Given the description of an element on the screen output the (x, y) to click on. 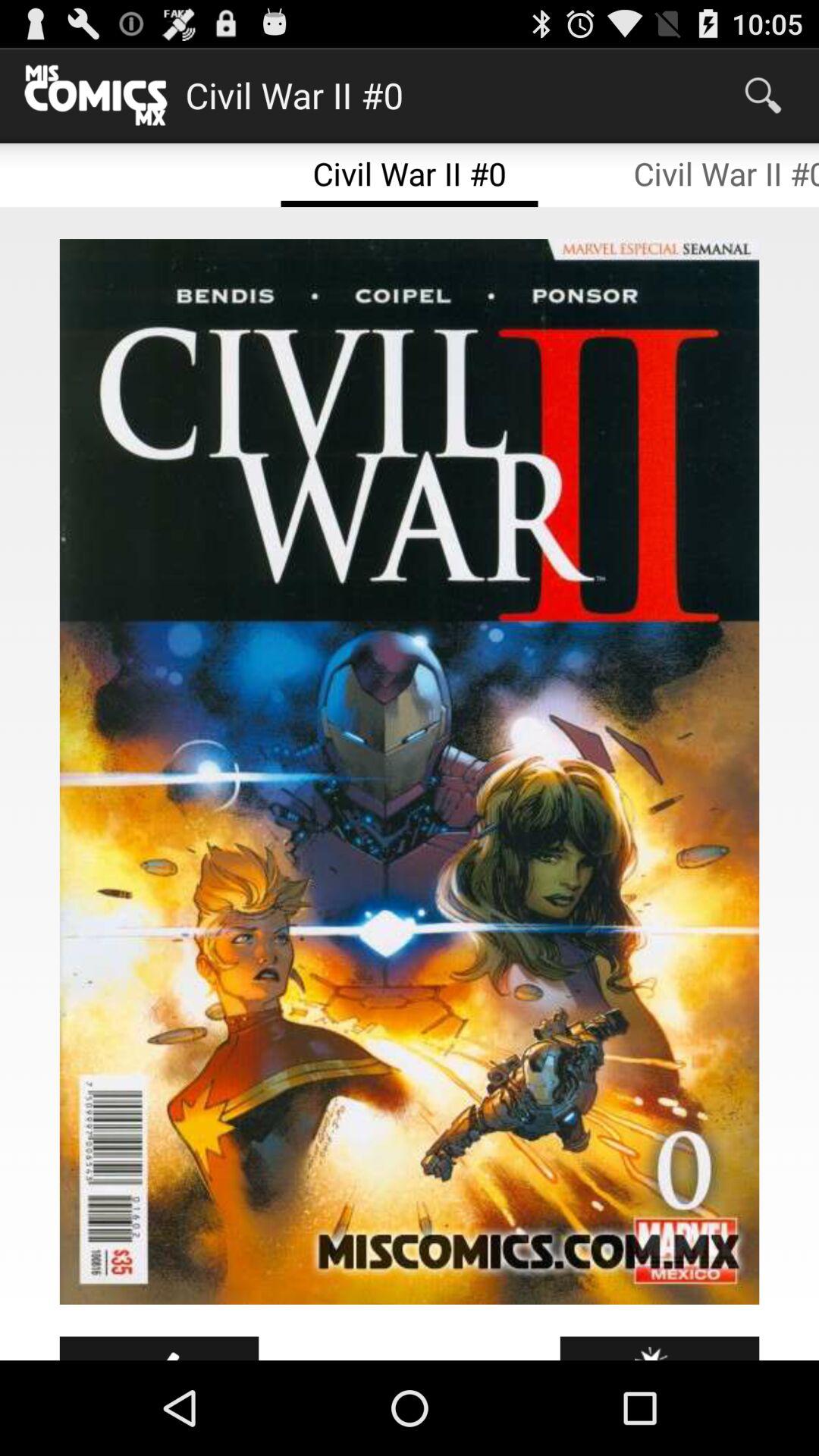
click the icon at the center (409, 771)
